Given the description of an element on the screen output the (x, y) to click on. 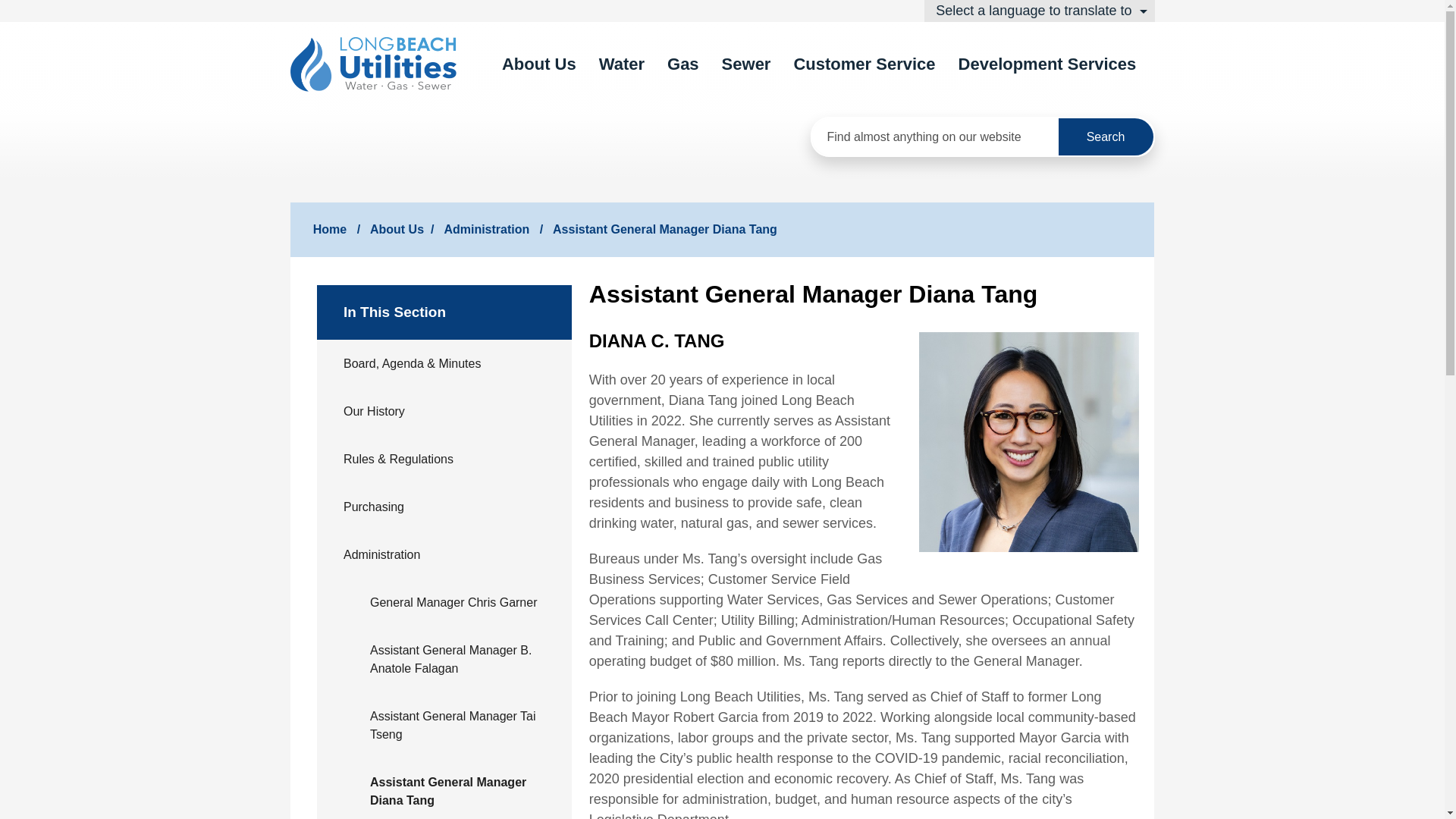
Search (1105, 136)
Select a language to translate to (1039, 11)
About Us (539, 63)
Long Beach Utilities - Home - Logo (373, 64)
Search (1105, 136)
